Given the description of an element on the screen output the (x, y) to click on. 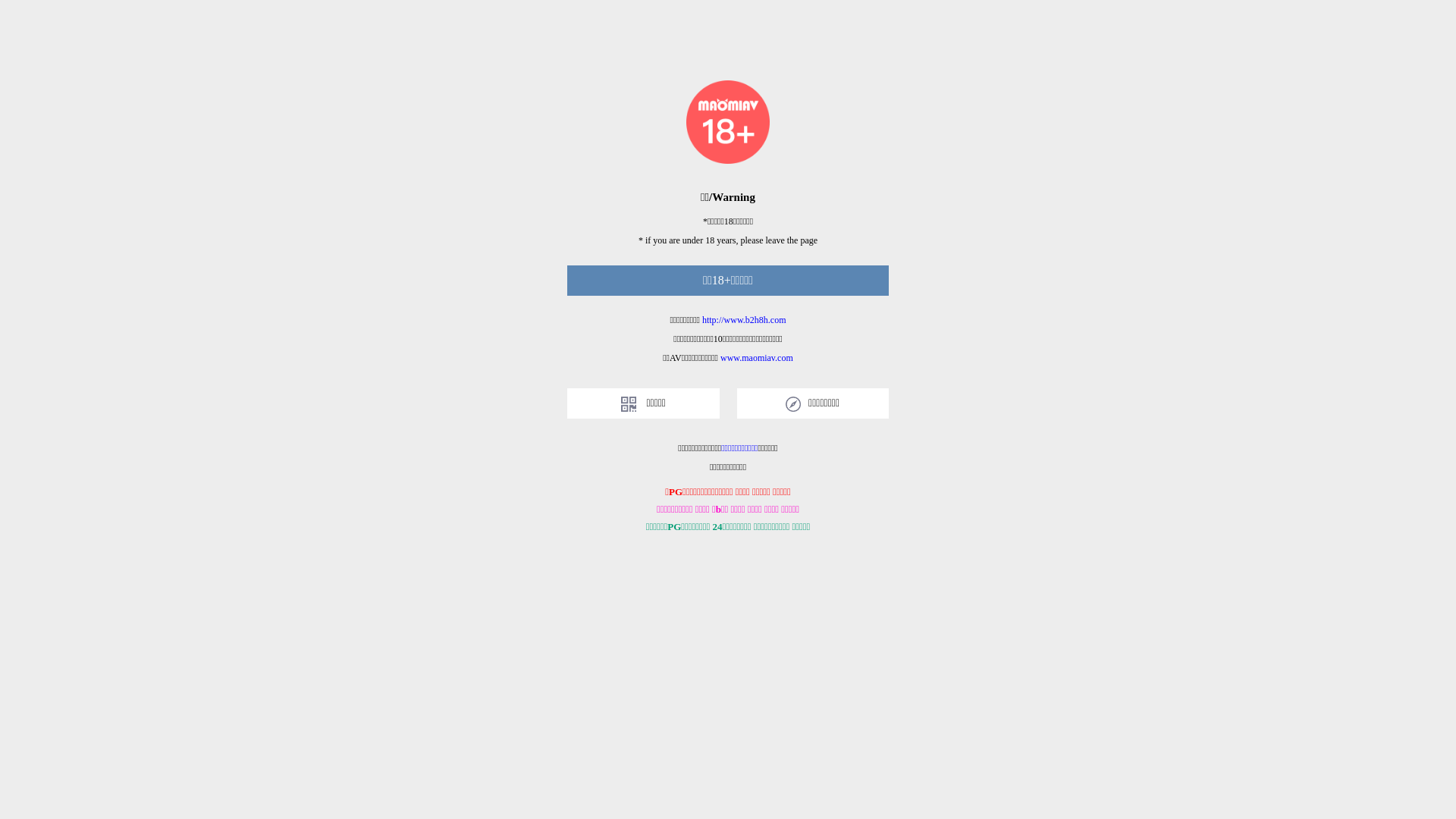
www.maomiav.com Element type: text (756, 357)
http://www.b2h8h.com Element type: text (744, 319)
